Given the description of an element on the screen output the (x, y) to click on. 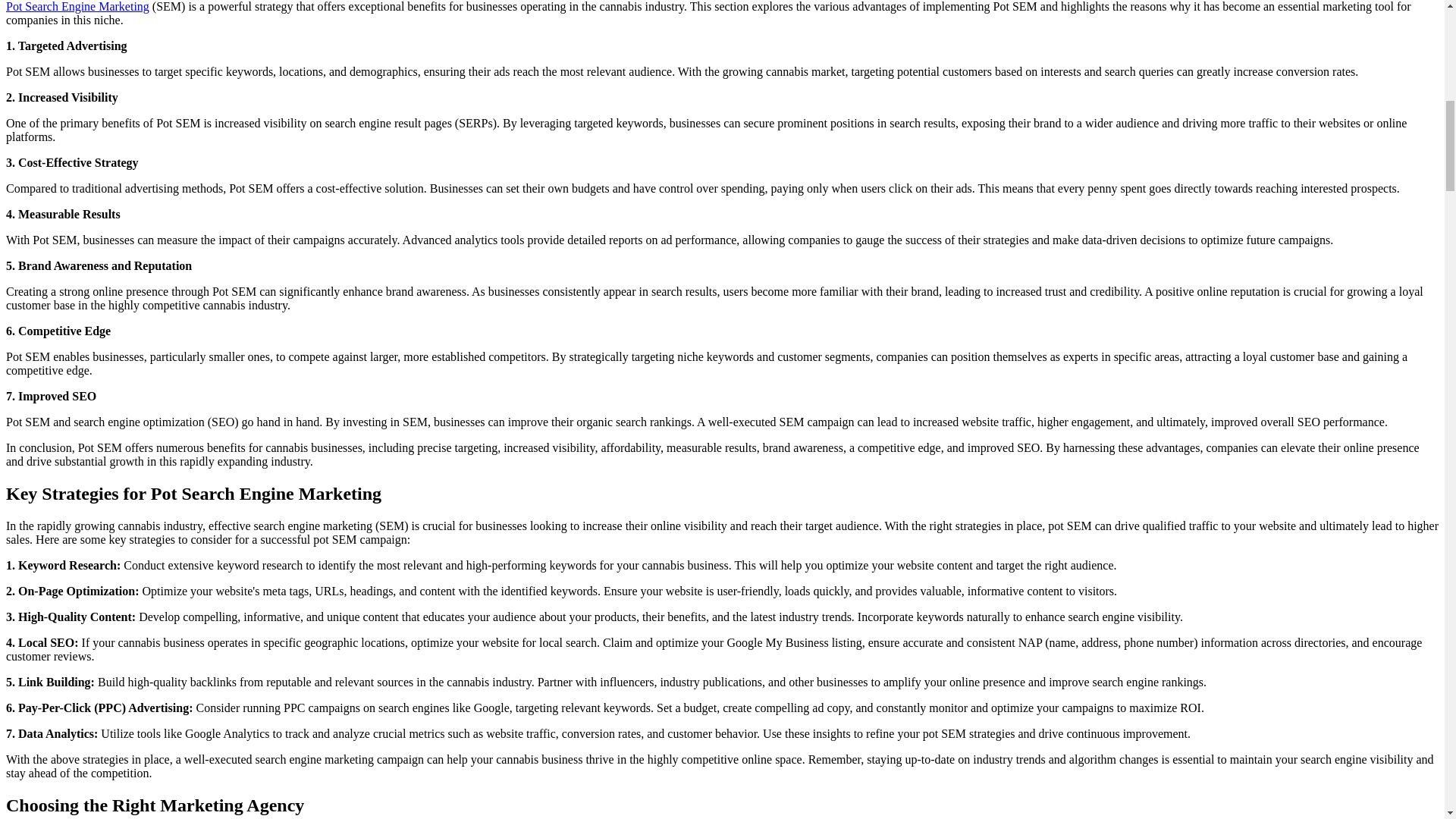
Pot Search Engine Marketing (77, 6)
